Given the description of an element on the screen output the (x, y) to click on. 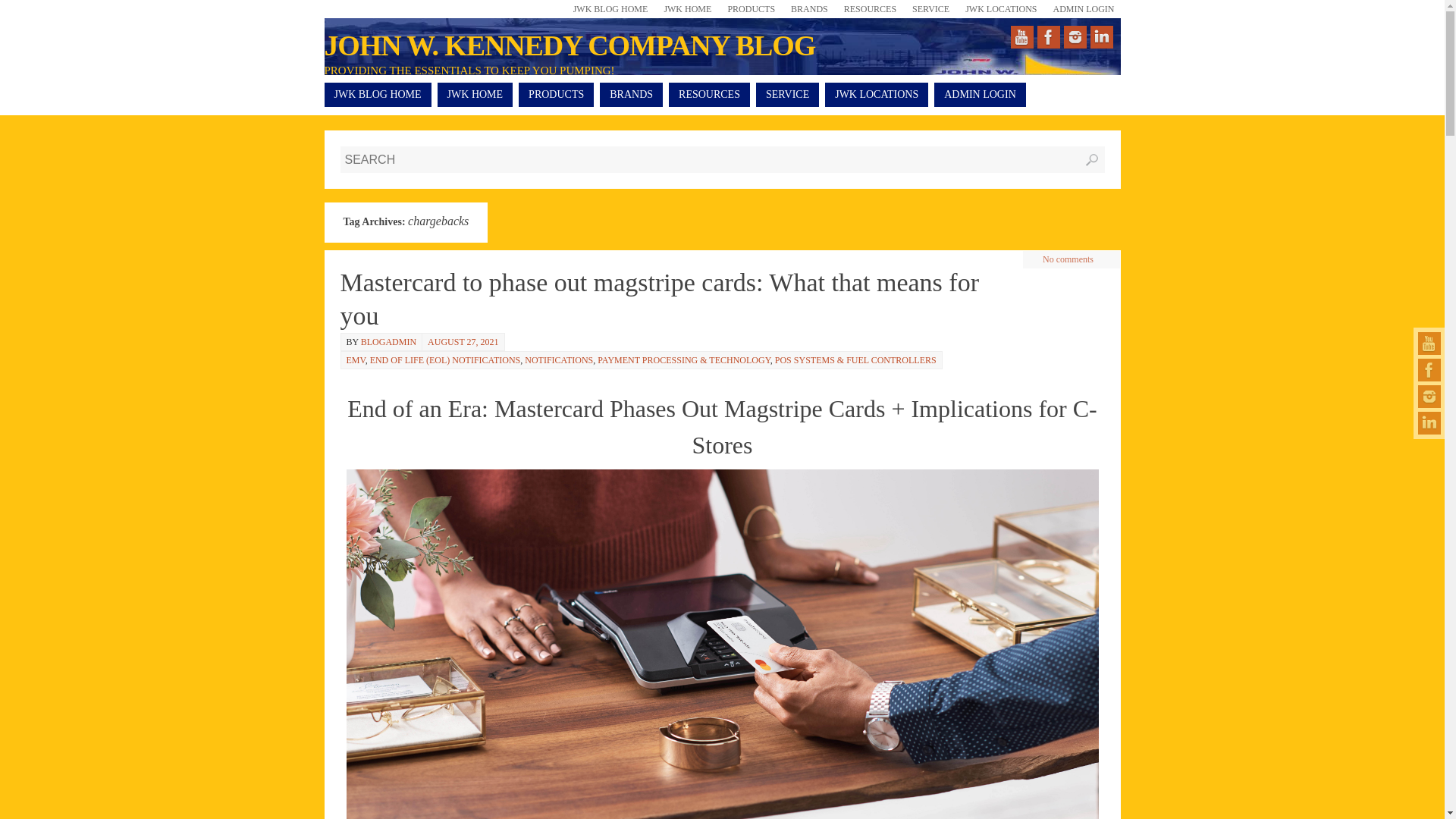
JWK BLOG HOME (609, 9)
View all posts by BlogAdmin (388, 341)
JOHN W. KENNEDY COMPANY BLOG (569, 45)
John W Kennedy Company YouTube Channel (1429, 343)
John W Kennedy Company LinkedIn (1429, 422)
ADMIN LOGIN (1081, 9)
SERVICE (786, 94)
SERVICE (928, 9)
John W Kennedy Company Instagram (1429, 395)
JWK LOCATIONS (876, 94)
John  W.  Kennedy  Company  Blog (569, 45)
JWK HOME (685, 9)
John W Kennedy Company Instagram (1074, 36)
PRODUCTS (556, 94)
PRODUCTS (748, 9)
